Given the description of an element on the screen output the (x, y) to click on. 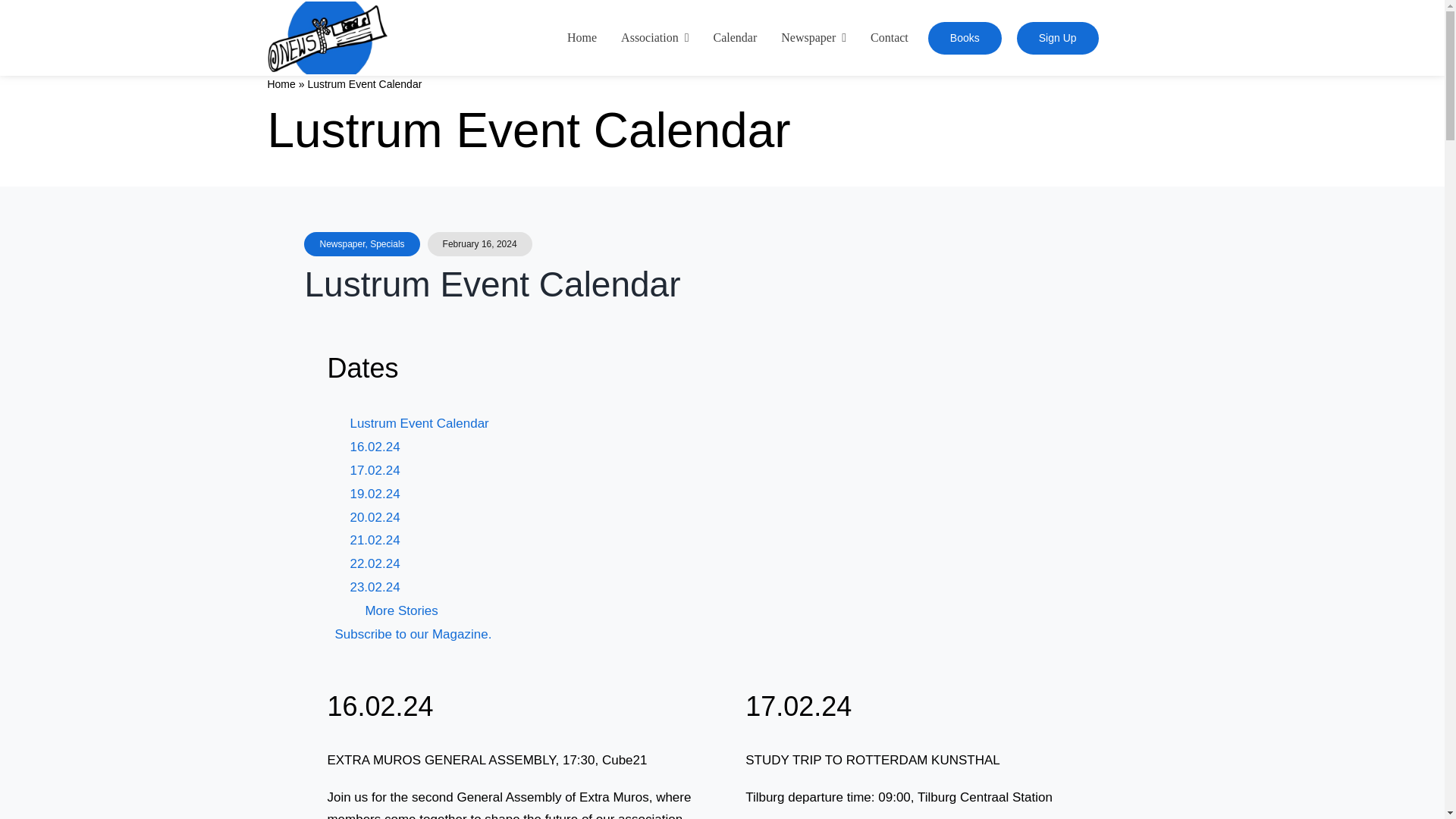
Sign Up (1057, 38)
Newspaper (813, 38)
Books (964, 38)
Association (654, 38)
